Given the description of an element on the screen output the (x, y) to click on. 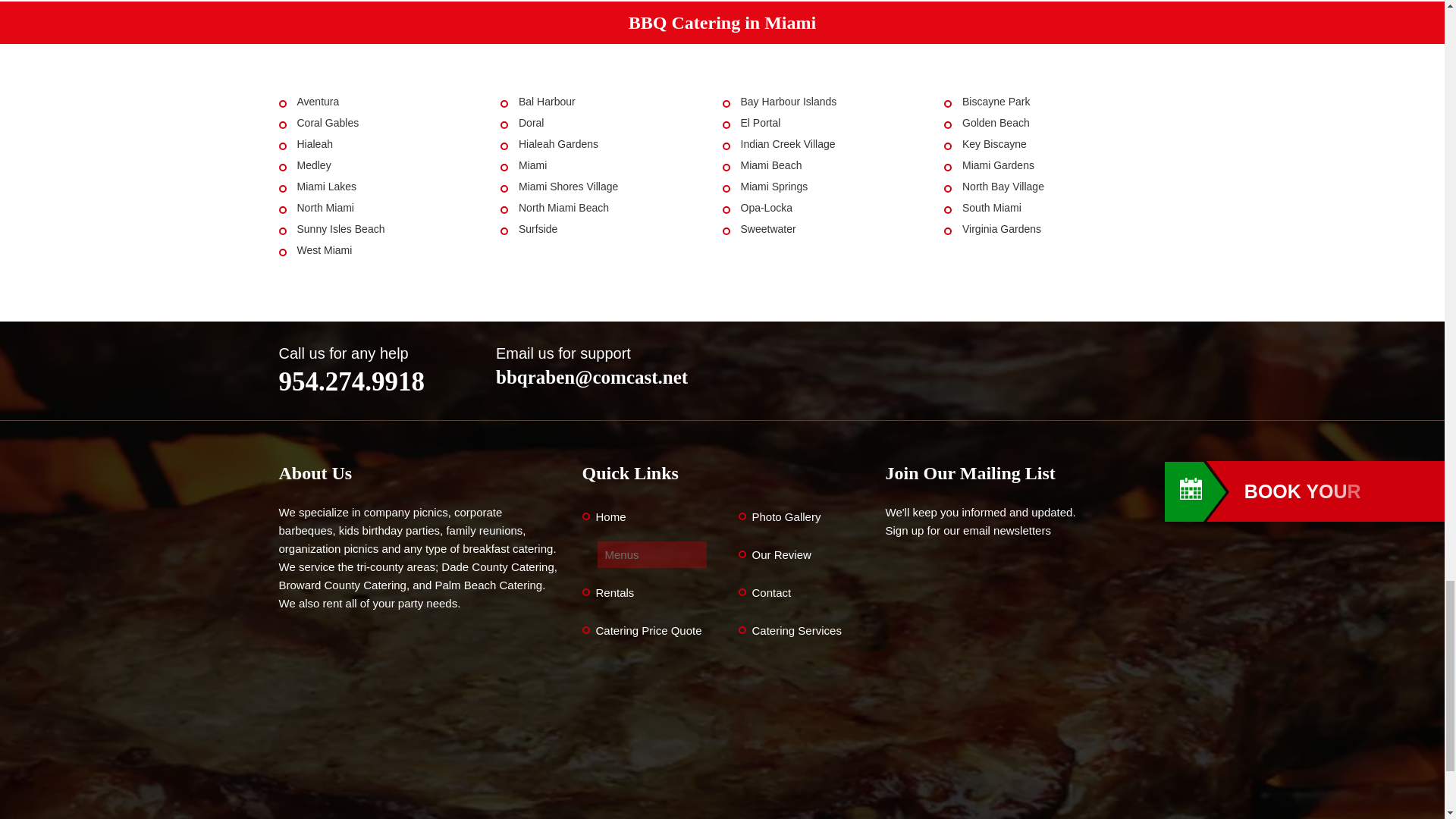
Golden Beach (995, 122)
Coral Gables (328, 122)
embedded form (1025, 679)
Hialeah (315, 143)
Hialeah Gardens (558, 143)
Doral (530, 122)
Aventura (318, 101)
Bal Harbour (546, 101)
Bay Harbour Islands (787, 101)
Biscayne Park (995, 101)
El Portal (759, 122)
